Given the description of an element on the screen output the (x, y) to click on. 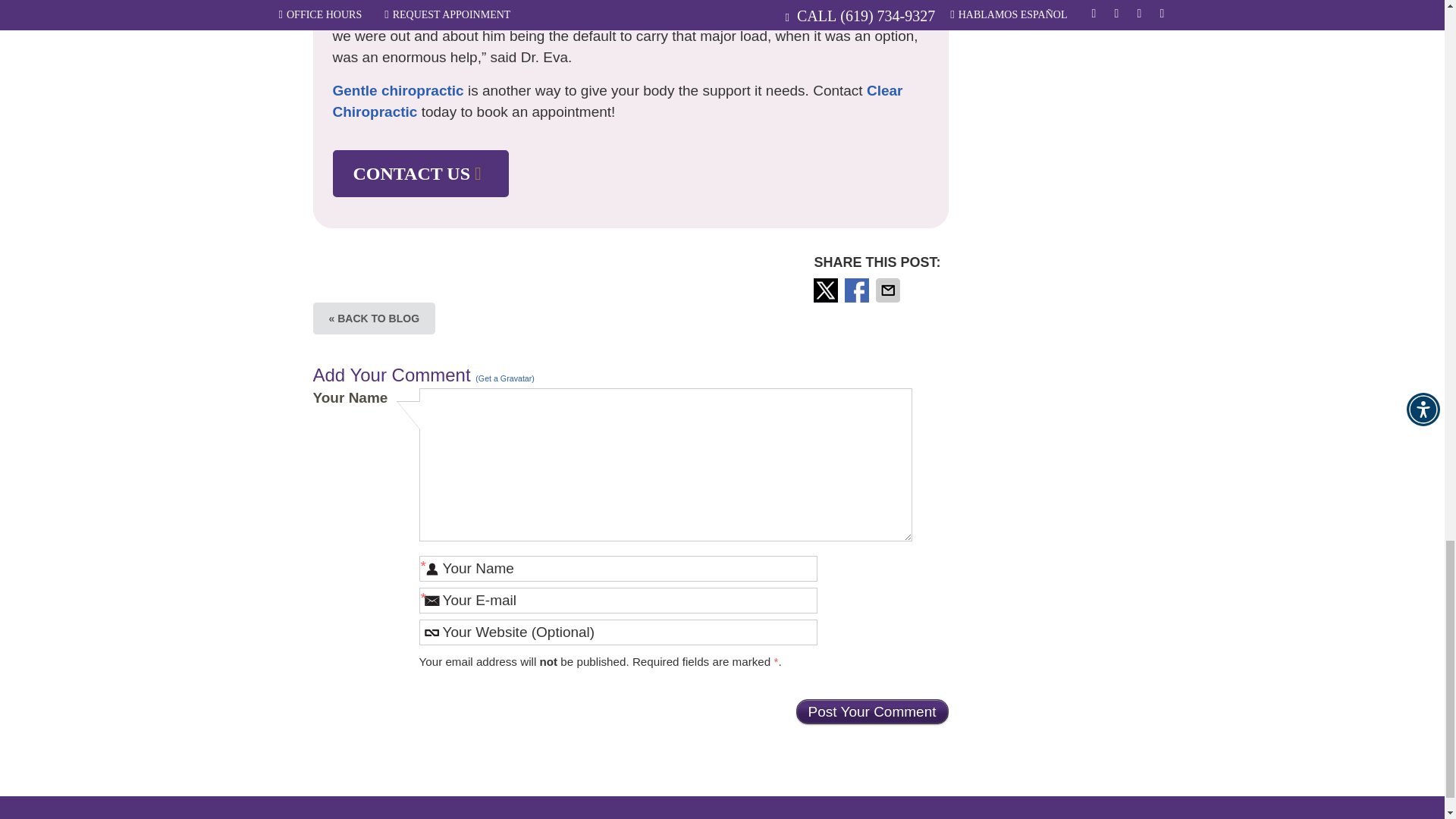
CONTACT US (419, 173)
Your Name (617, 568)
Your Name (617, 568)
Share on Twitter (827, 290)
Gentle chiropractic (397, 90)
Post Your Comment (872, 711)
Clear Chiropractic (616, 101)
Dr. Eva (355, 0)
Your E-mail (617, 600)
Dr. Joe (520, 0)
Your E-mail (617, 600)
